Given the description of an element on the screen output the (x, y) to click on. 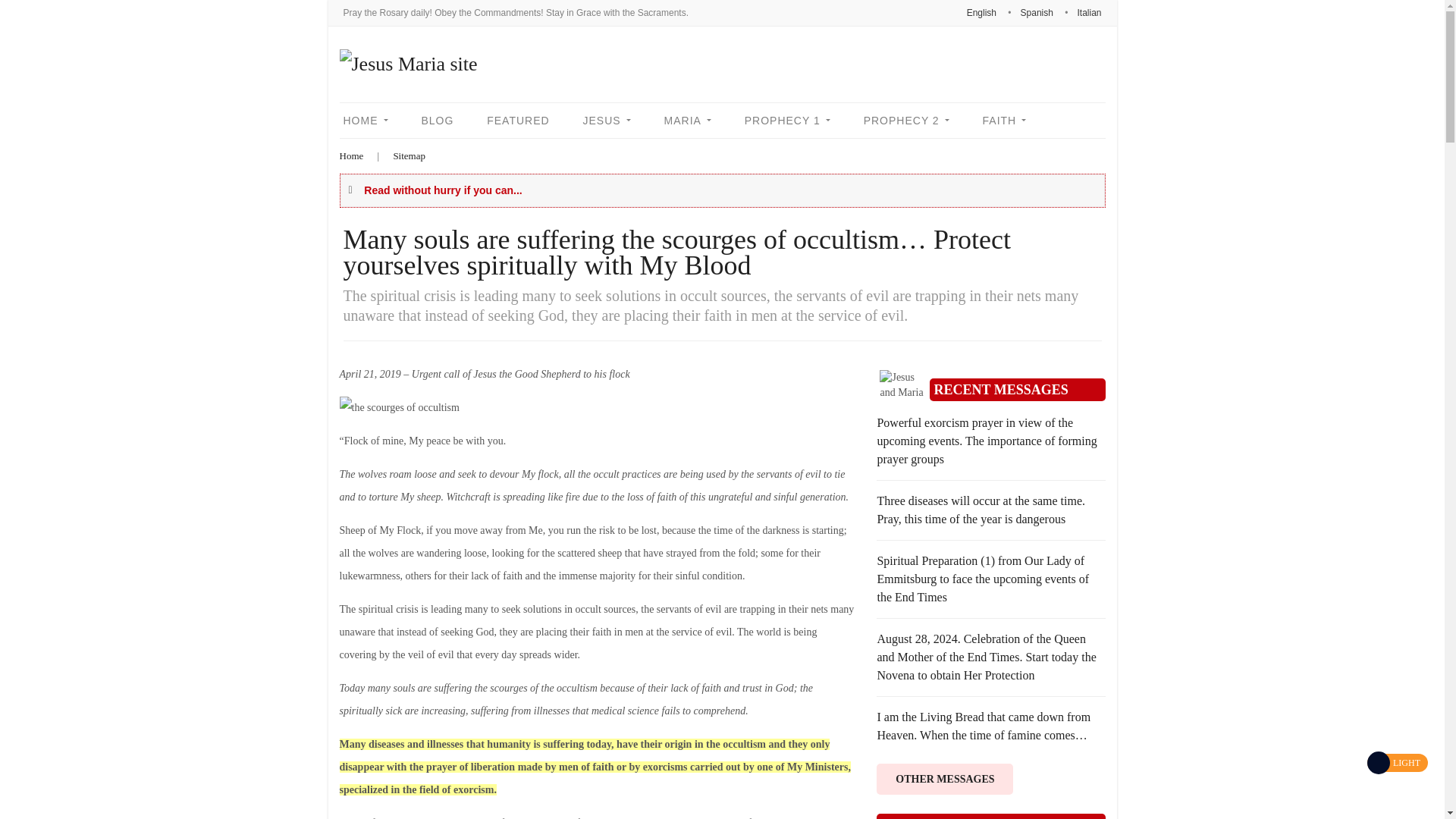
Spanish (1036, 12)
PROPHECY 1 (787, 120)
BLOG (436, 120)
Sitemap (408, 156)
JESUS (606, 120)
FEATURED (518, 120)
Save Your Soul (408, 64)
English (980, 12)
MARIA (687, 120)
PROPHECY 2 (906, 120)
